Given the description of an element on the screen output the (x, y) to click on. 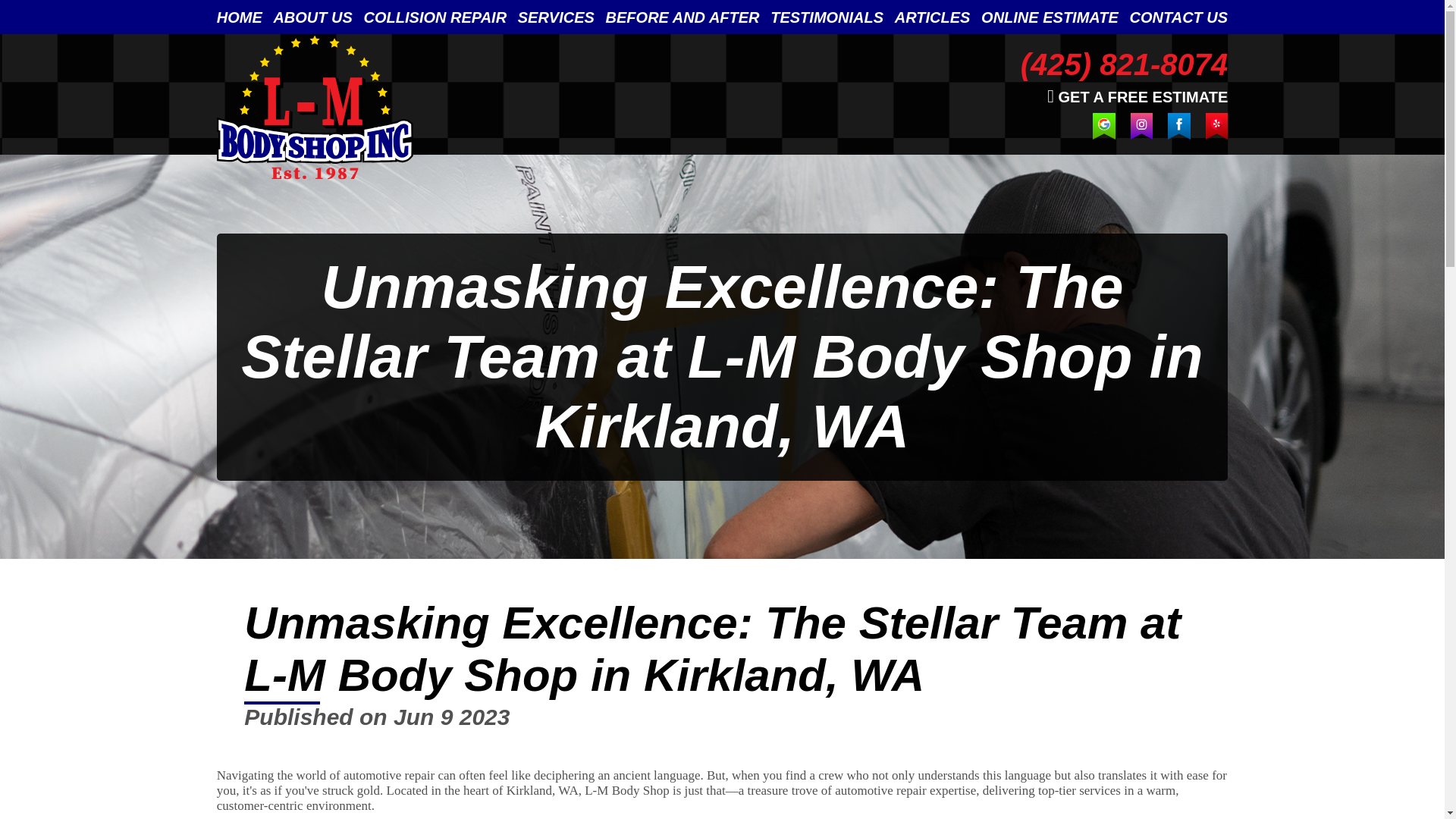
HOME (239, 16)
BEFORE AND AFTER (682, 16)
COLLISION REPAIR (435, 16)
TESTIMONIALS (826, 16)
SERVICES (556, 16)
ONLINE ESTIMATE (1049, 16)
ABOUT US (312, 16)
CONTACT US (1178, 16)
ARTICLES (933, 16)
